Given the description of an element on the screen output the (x, y) to click on. 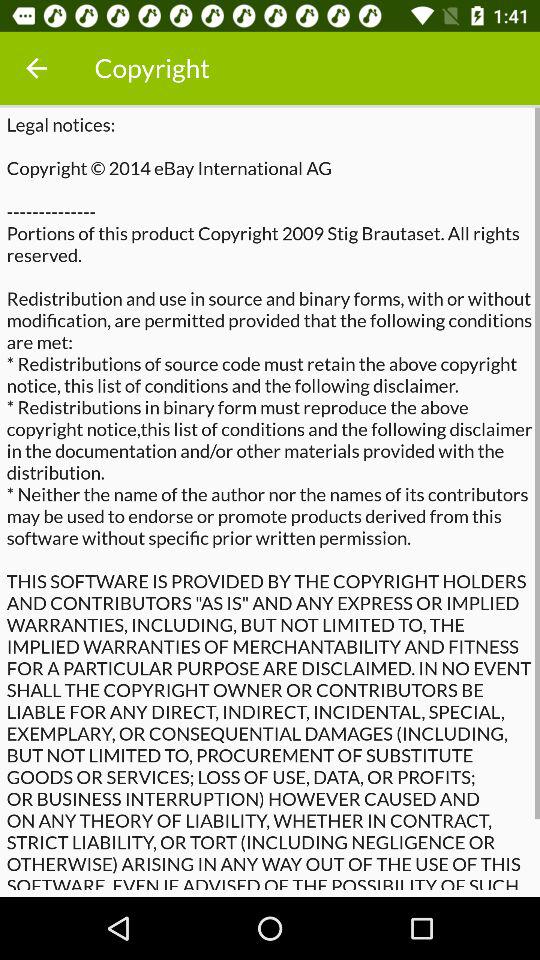
tap item next to the copyright item (36, 68)
